Given the description of an element on the screen output the (x, y) to click on. 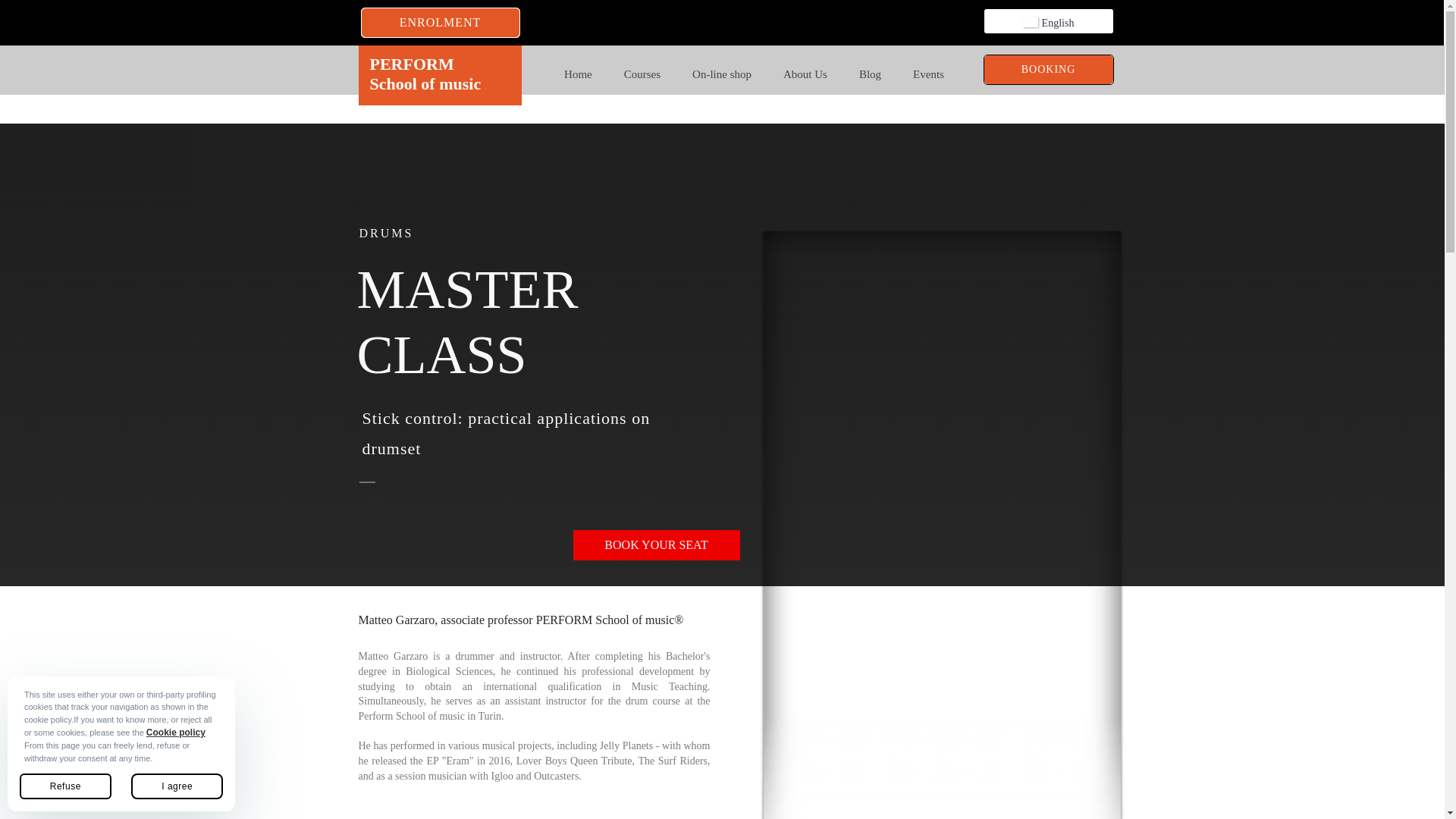
Cookie policy (176, 732)
